Given the description of an element on the screen output the (x, y) to click on. 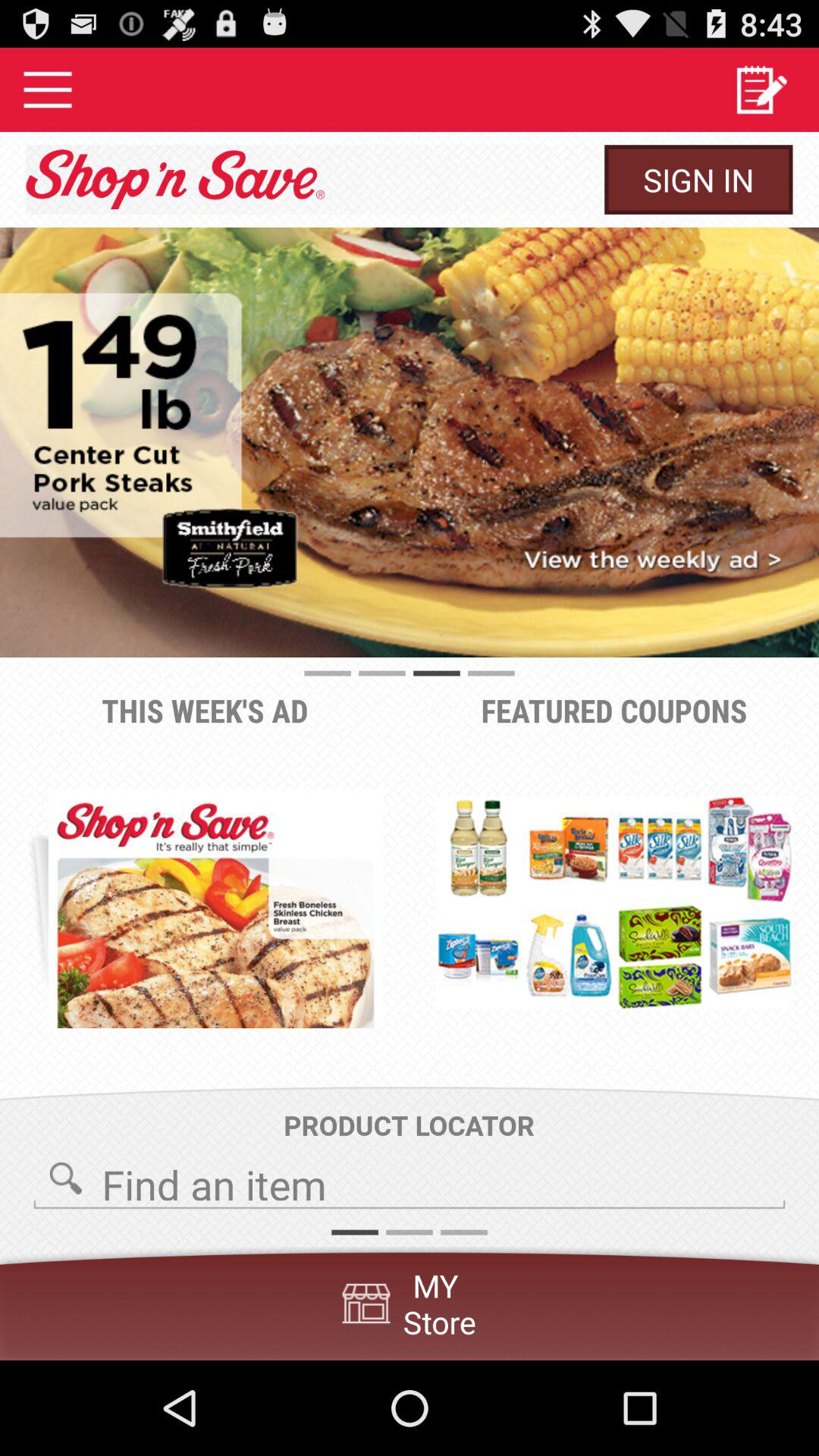
turn off the icon above the sign in icon (760, 89)
